Given the description of an element on the screen output the (x, y) to click on. 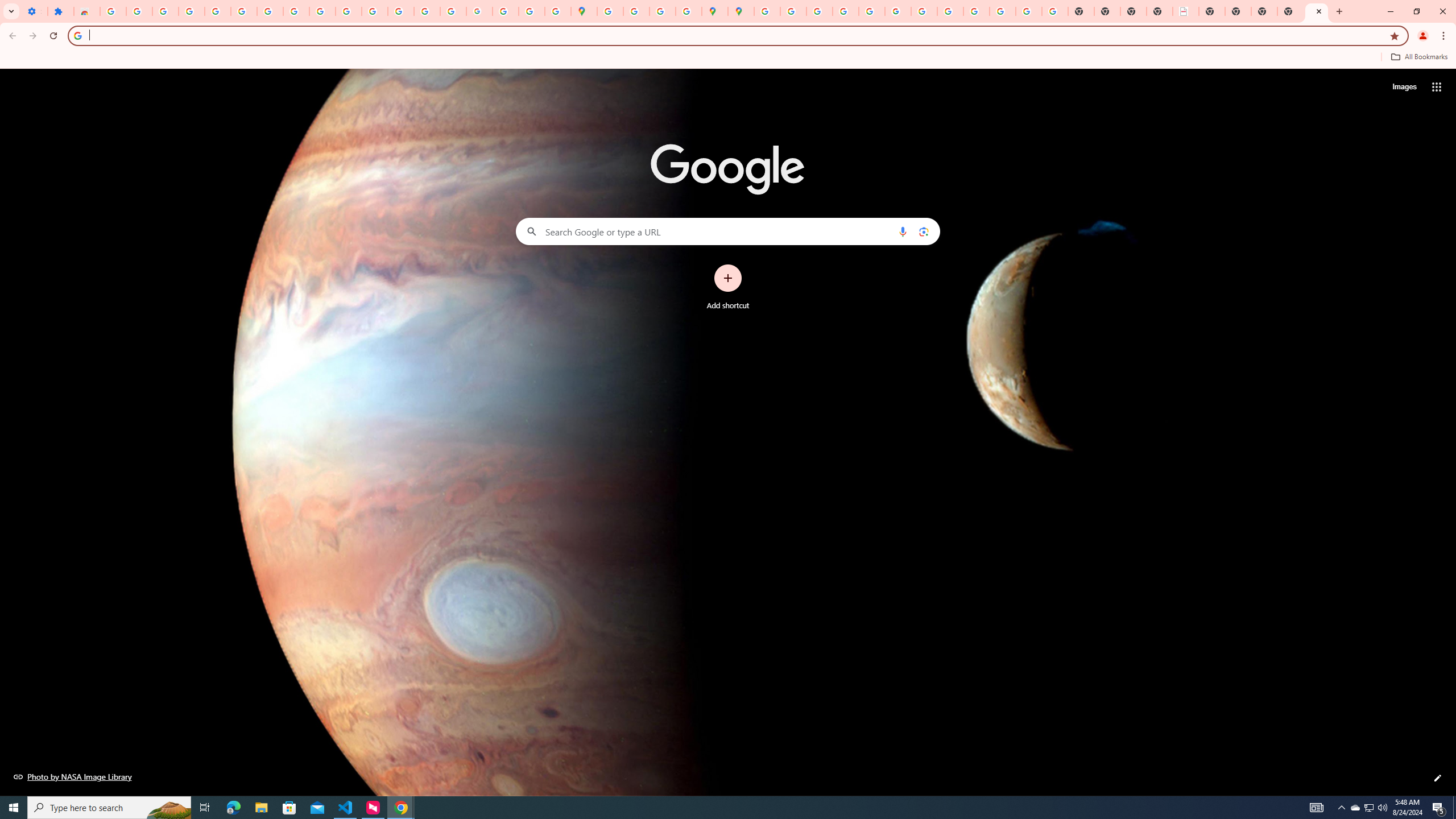
Delete photos & videos - Computer - Google Photos Help (165, 11)
Sign in - Google Accounts (766, 11)
Sign in - Google Accounts (243, 11)
Add shortcut (727, 287)
Photo by NASA Image Library (72, 776)
Safety in Our Products - Google Safety Center (689, 11)
